Given the description of an element on the screen output the (x, y) to click on. 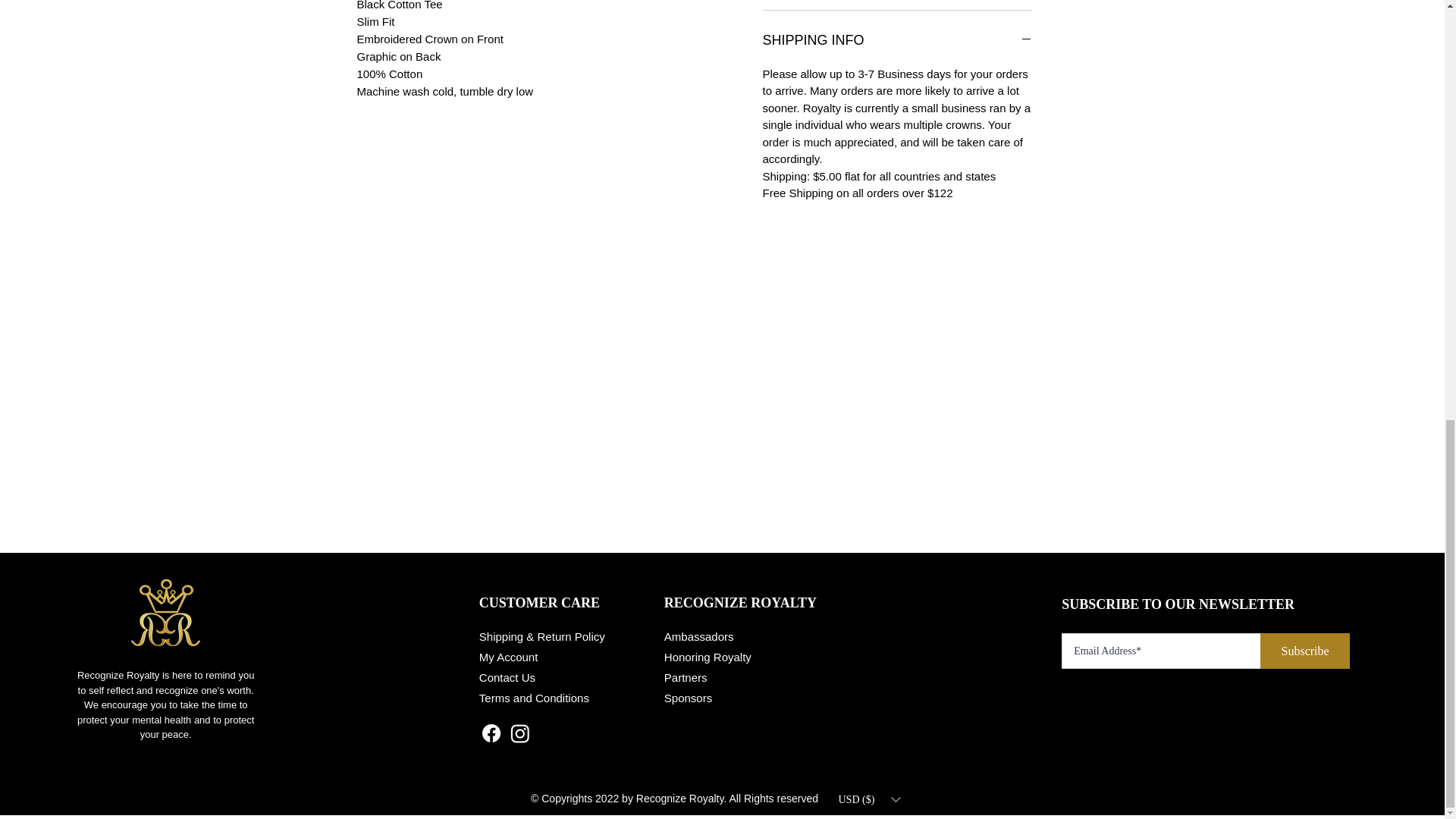
Subscribe (1304, 651)
Partners (685, 676)
Contact Us (507, 676)
Sponsors (687, 697)
Terms and Conditions (534, 697)
My Account (508, 656)
Ambassadors (698, 635)
Honoring Royalty (707, 656)
SHIPPING INFO (897, 40)
